Given the description of an element on the screen output the (x, y) to click on. 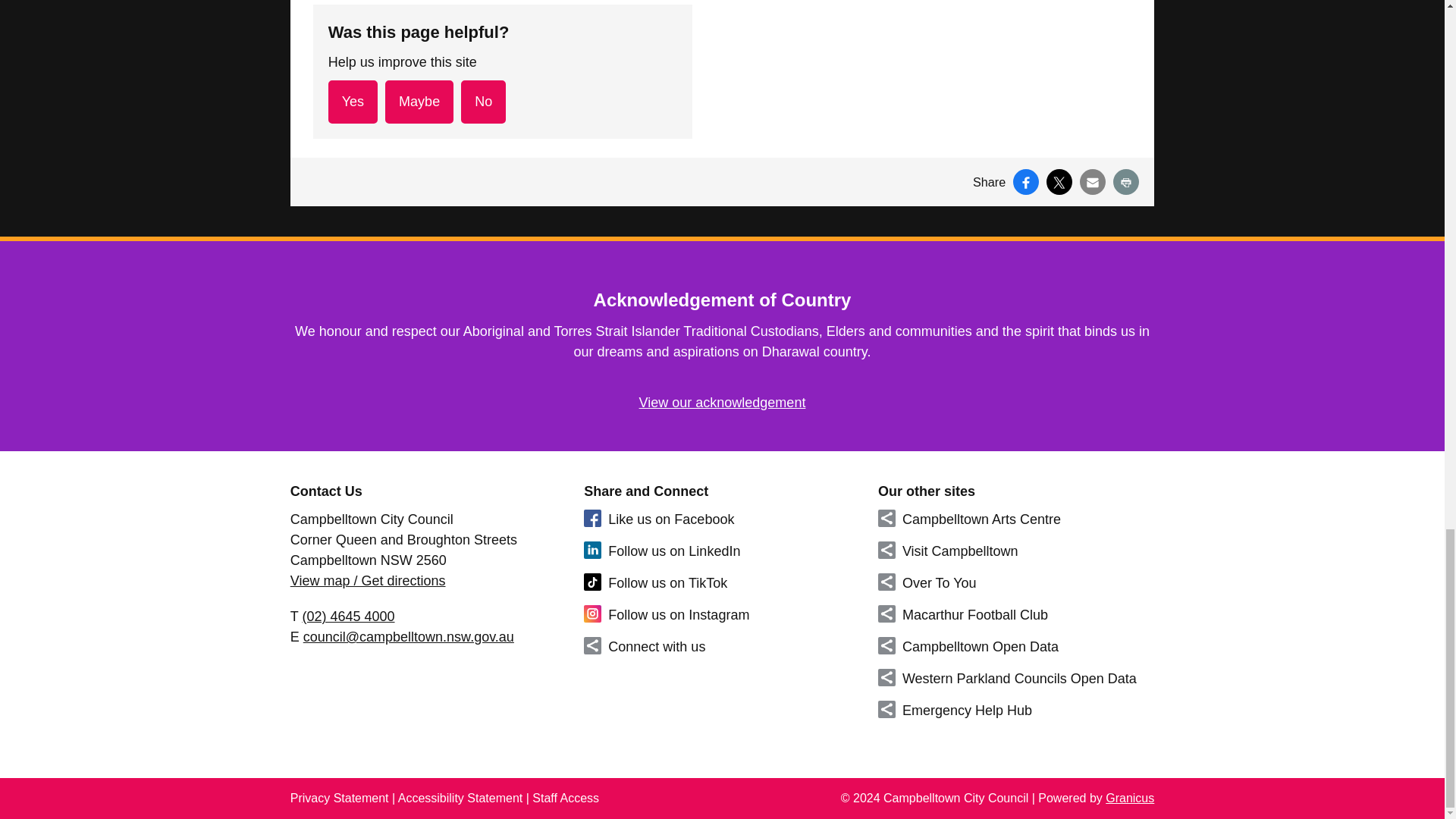
No (483, 101)
Maybe (418, 101)
No, this page was not helpful (483, 101)
Yes (353, 101)
Yes, this page was helpful (353, 101)
